Given the description of an element on the screen output the (x, y) to click on. 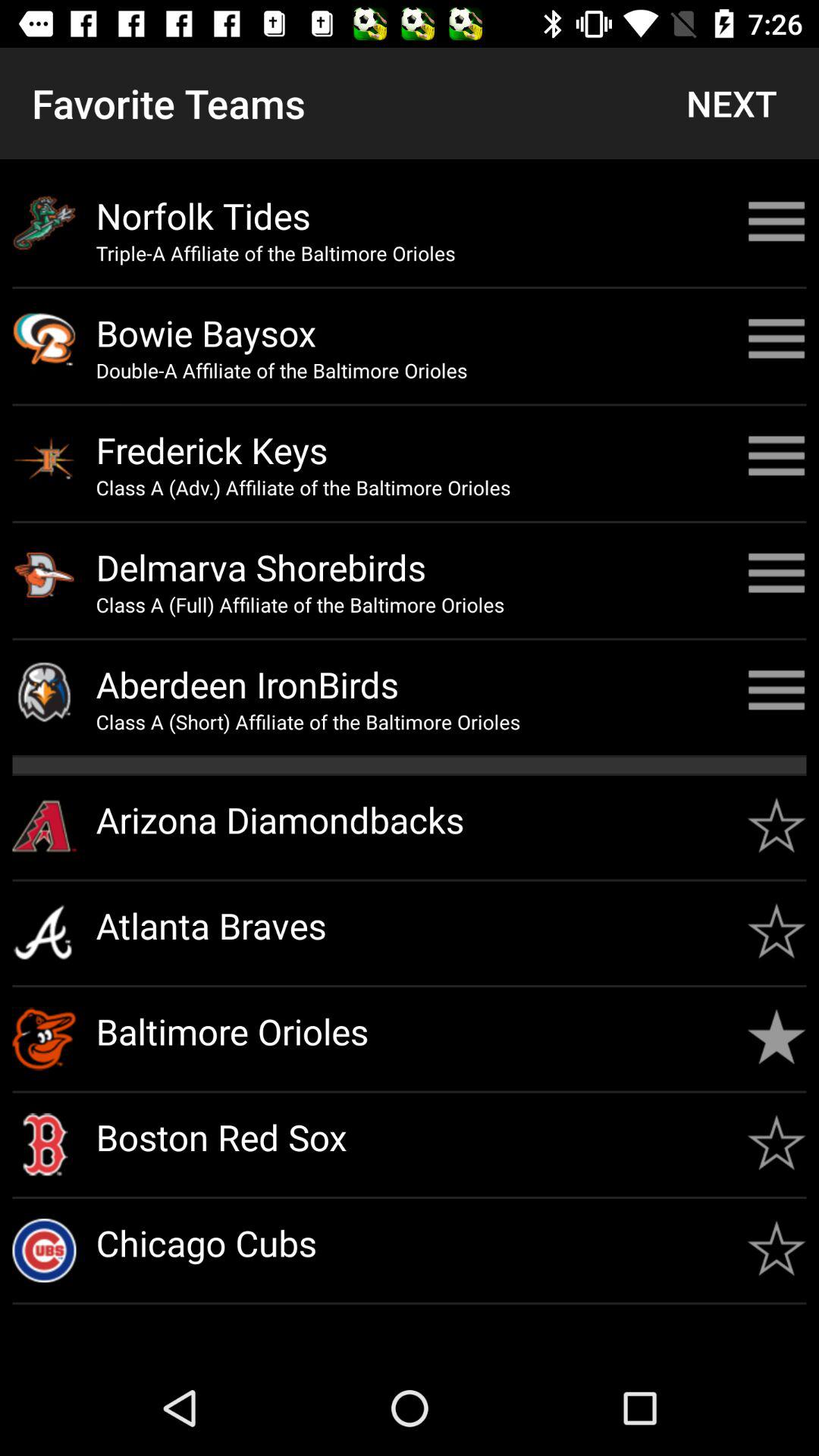
turn on the next item (731, 103)
